Given the description of an element on the screen output the (x, y) to click on. 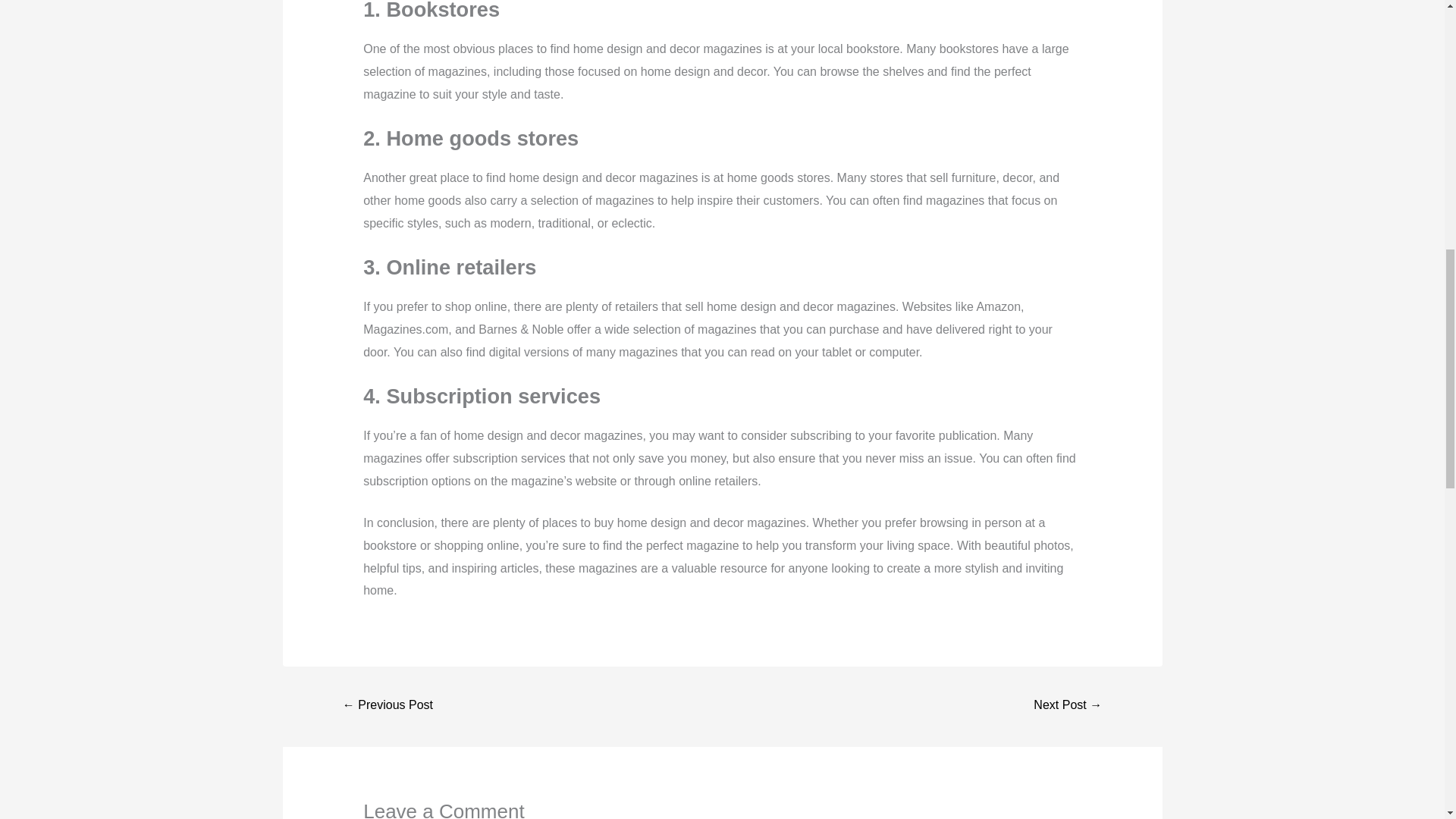
Where To Buy Home Decorators Dolls Cheap (387, 706)
Where To Buy Medieval Home Decor (1066, 706)
